Given the description of an element on the screen output the (x, y) to click on. 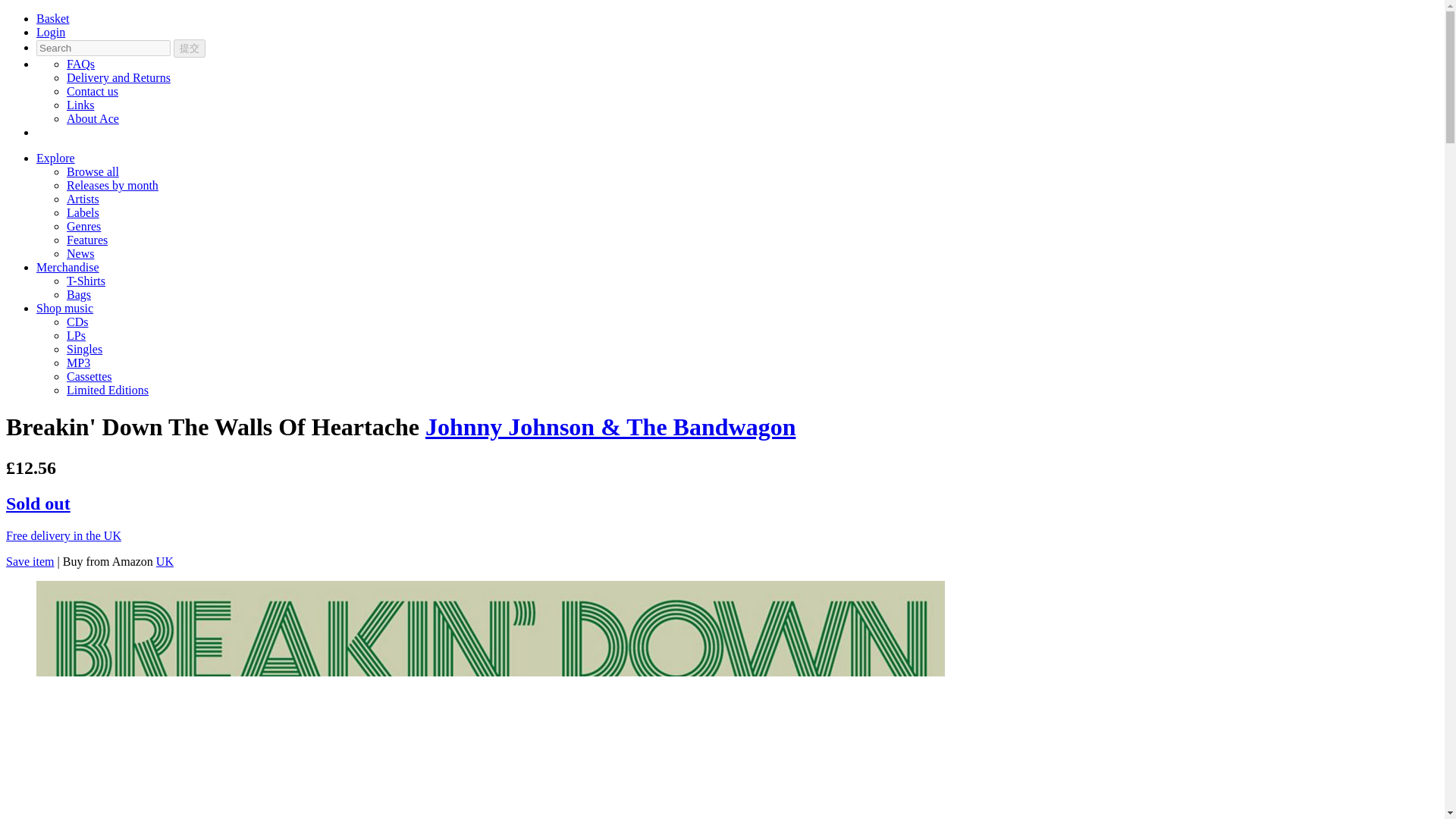
Browse all (92, 171)
CDs (76, 321)
Features (86, 239)
MP3 (78, 362)
Delivery and Returns (118, 77)
Save item (30, 561)
Releases by month (112, 185)
LPs (75, 335)
Labels (82, 212)
Singles (83, 349)
